Given the description of an element on the screen output the (x, y) to click on. 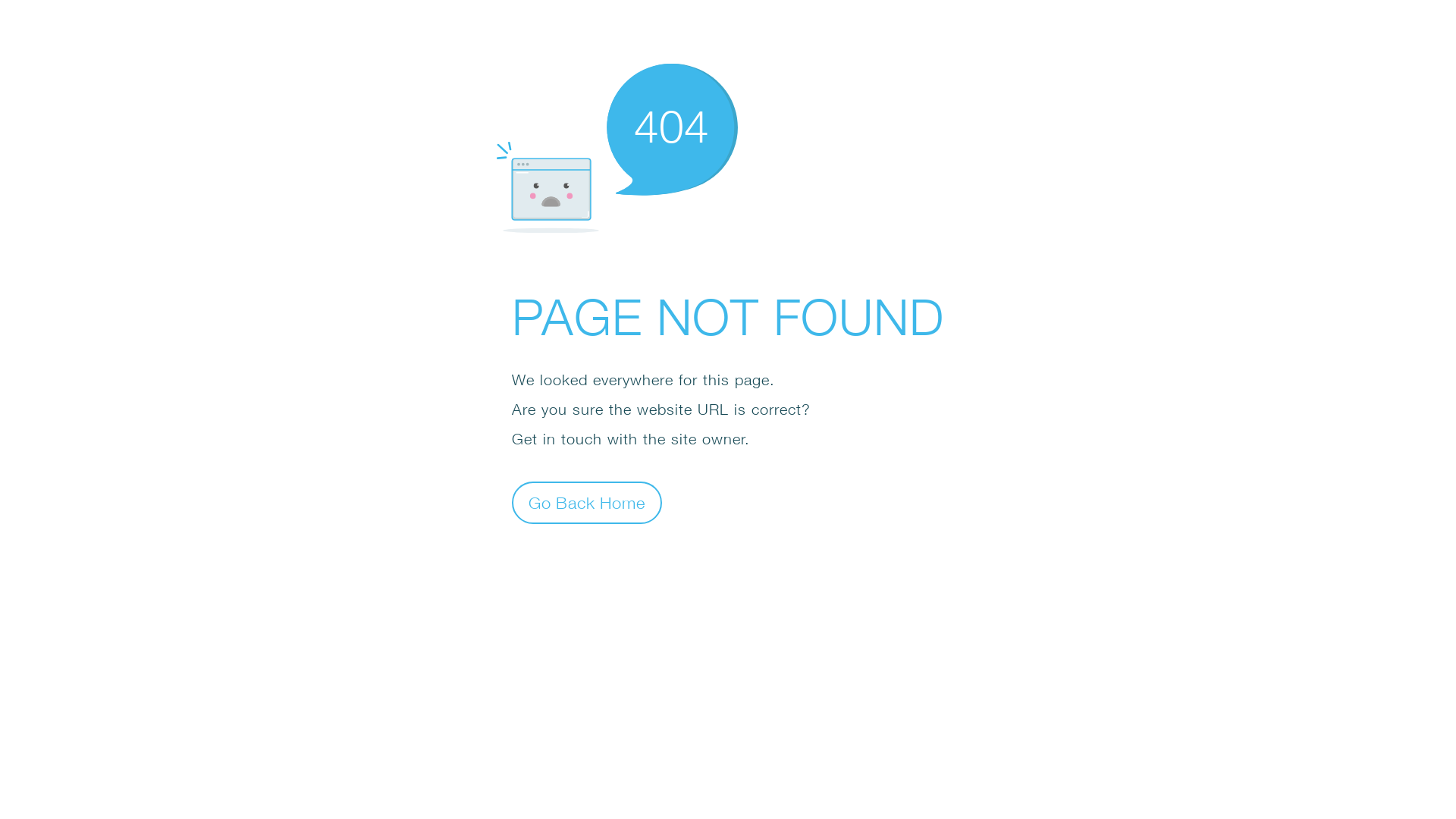
Go Back Home Element type: text (586, 502)
